Given the description of an element on the screen output the (x, y) to click on. 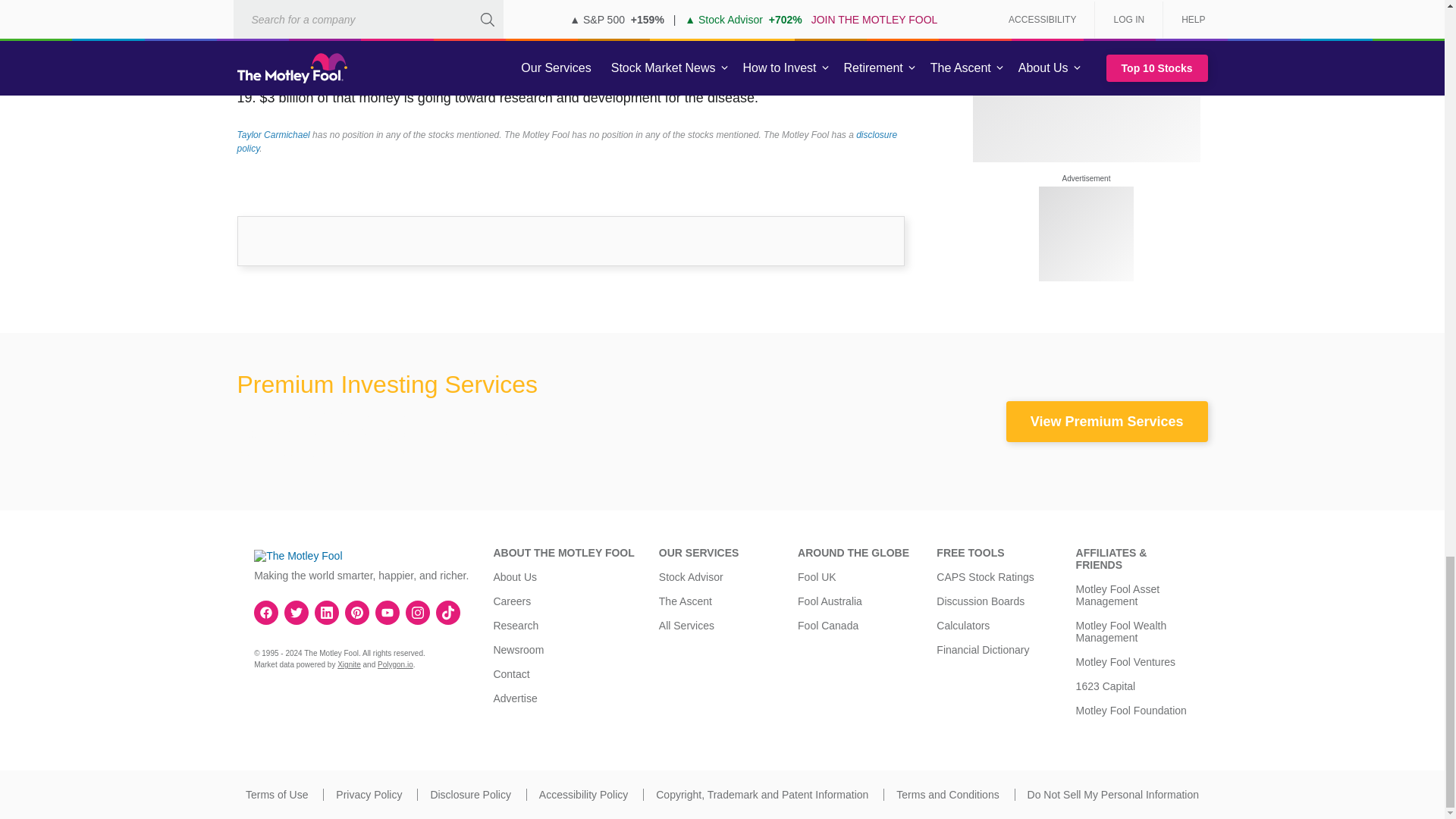
Privacy Policy (368, 794)
Disclosure Policy (470, 794)
Do Not Sell My Personal Information. (1112, 794)
Accessibility Policy (582, 794)
Terms and Conditions (947, 794)
Copyright, Trademark and Patent Information (761, 794)
Terms of Use (276, 794)
